Given the description of an element on the screen output the (x, y) to click on. 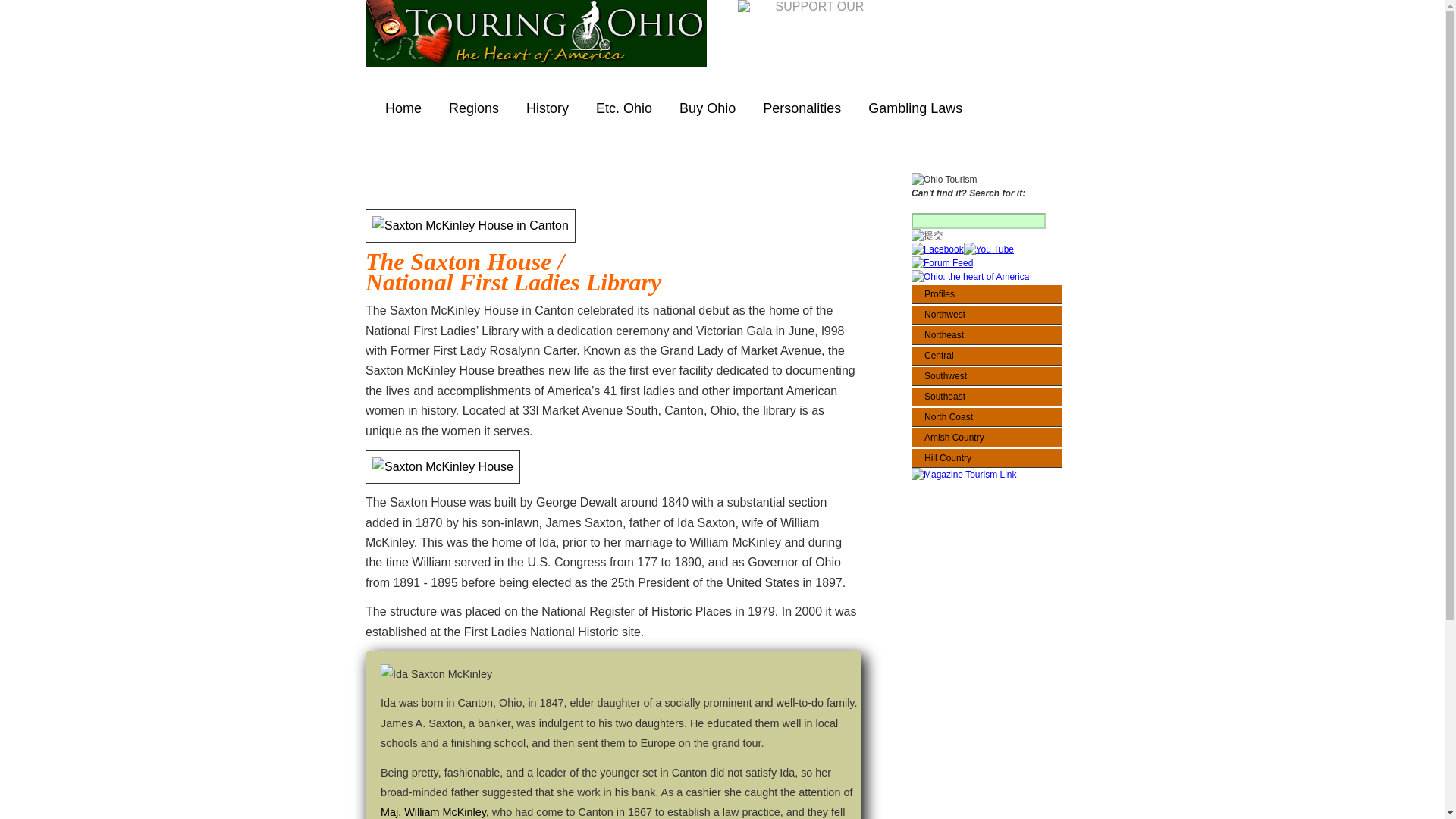
Home (403, 108)
History (547, 108)
Regions (473, 108)
Etc. Ohio (623, 108)
